Given the description of an element on the screen output the (x, y) to click on. 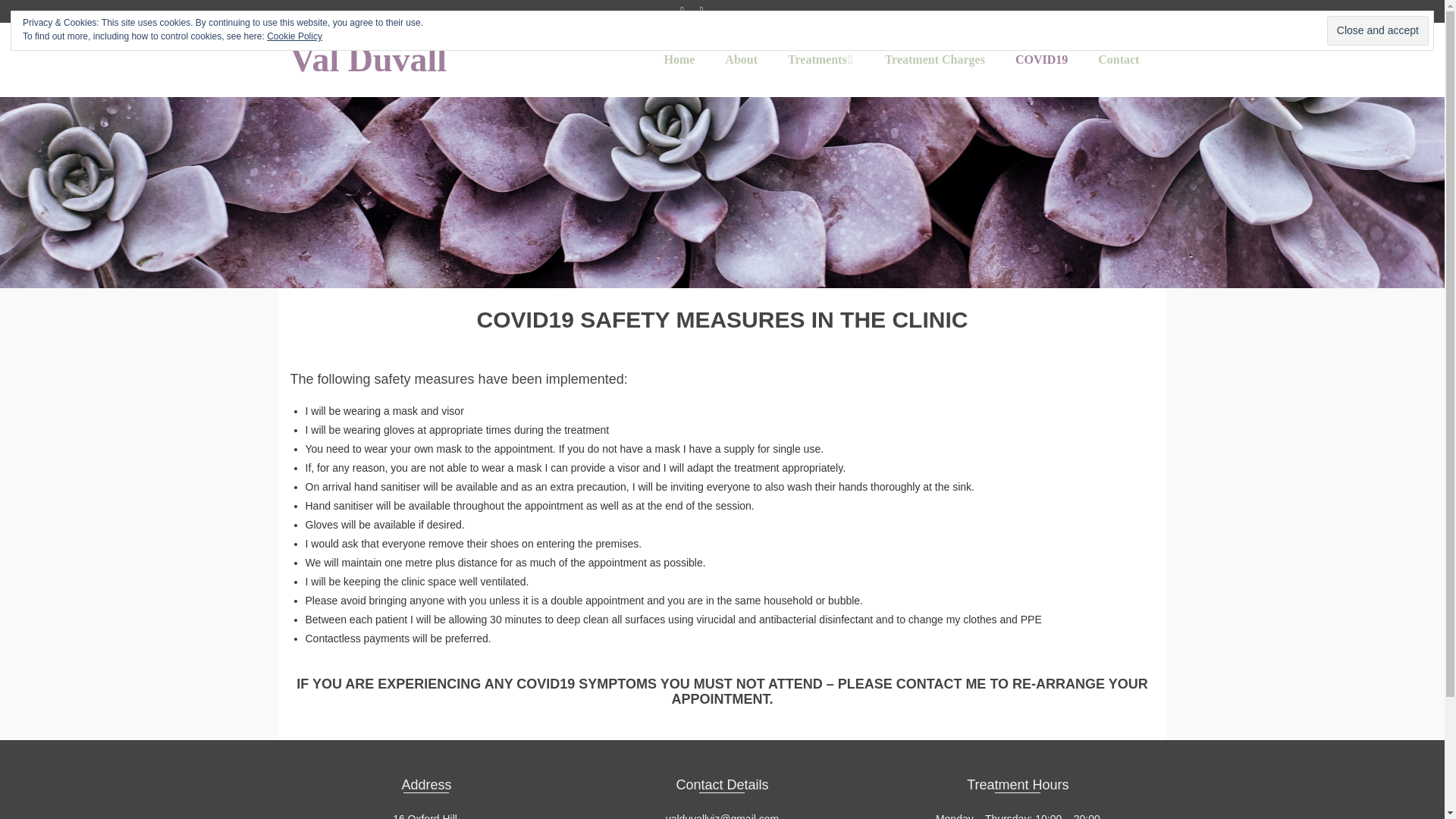
Treatment Charges (934, 59)
Close and accept (1377, 30)
Contact (1118, 59)
Close and accept (1377, 30)
Treatments (821, 59)
Val Duvall (425, 59)
COVID19 (1041, 59)
Cookie Policy (293, 36)
